Given the description of an element on the screen output the (x, y) to click on. 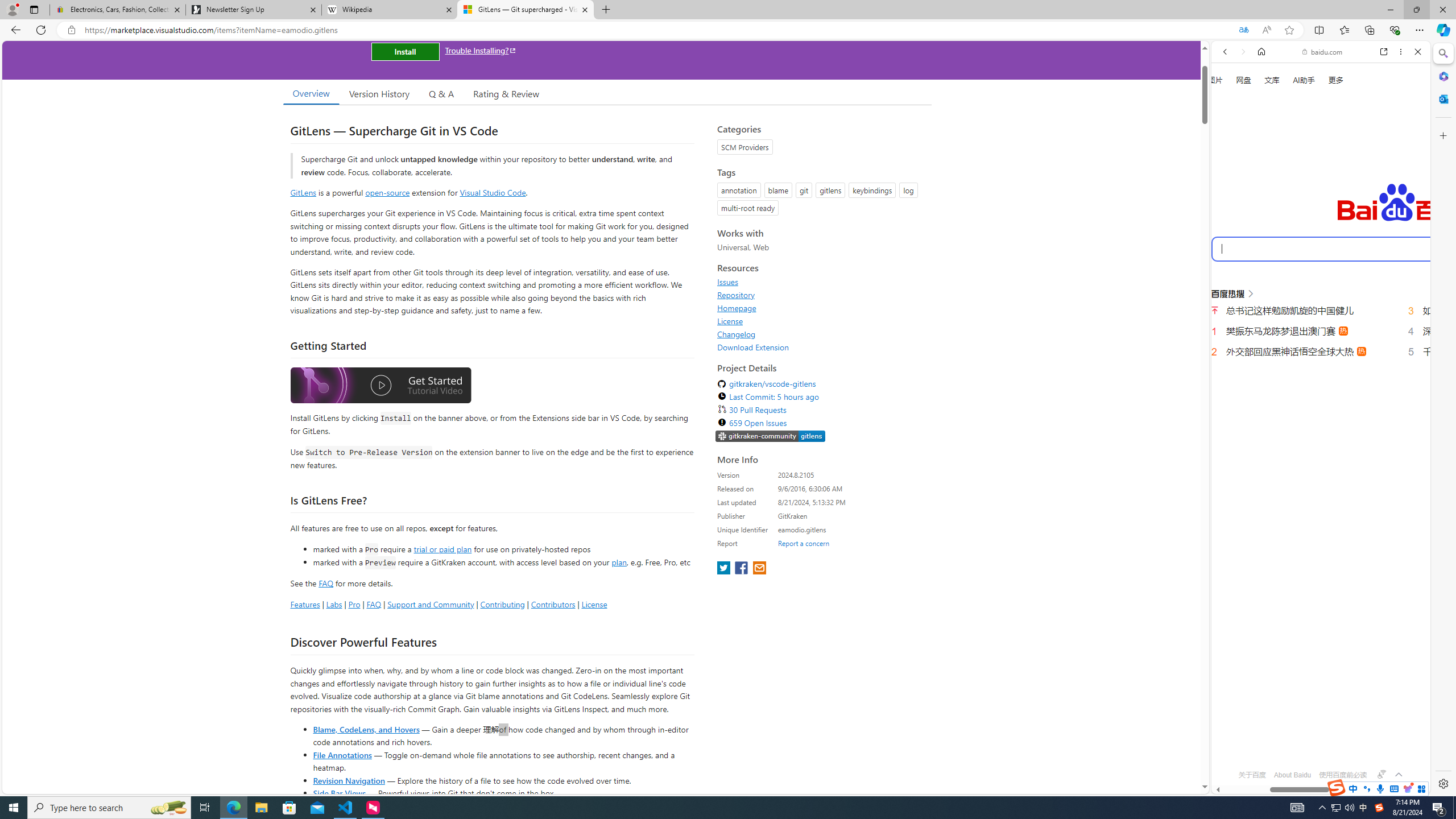
Overview (310, 92)
English (Uk) (1320, 357)
baidu.com (1323, 51)
Pro (354, 603)
Install (405, 51)
Newsletter Sign Up (253, 9)
Outlook (1442, 98)
Search Filter, Search Tools (1350, 192)
Search Filter, IMAGES (1262, 192)
